Given the description of an element on the screen output the (x, y) to click on. 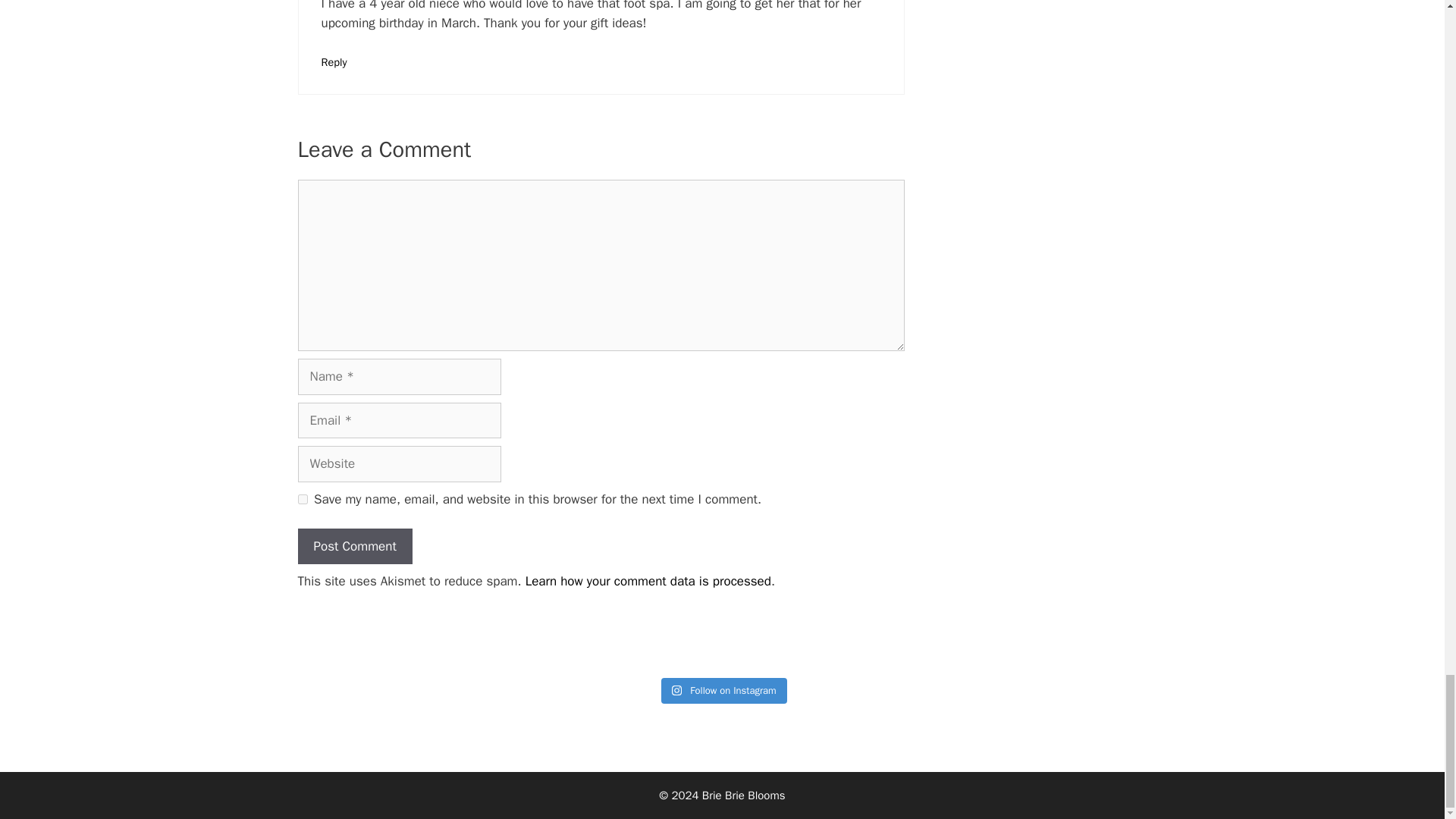
Post Comment (354, 546)
yes (302, 499)
